Given the description of an element on the screen output the (x, y) to click on. 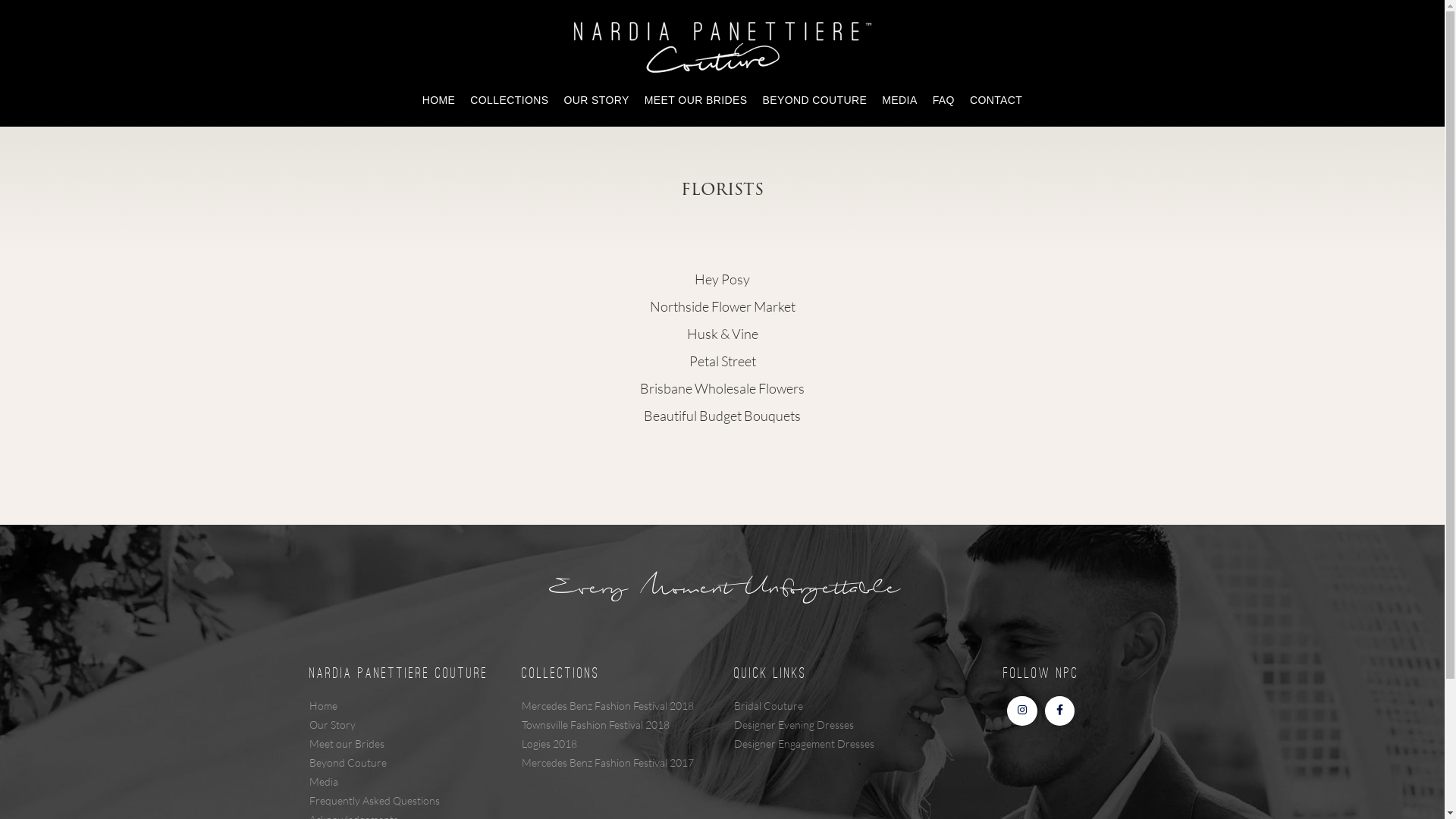
Bridal Couture Element type: text (804, 705)
Hey Posy Element type: text (721, 278)
Brisbane Wholesale Flowers Element type: text (722, 387)
OUR STORY Element type: text (595, 100)
Logies 2018 Element type: text (607, 743)
MEDIA Element type: text (899, 100)
COLLECTIONS Element type: text (509, 100)
Designer Evening Dresses Element type: text (804, 723)
Home Element type: text (374, 705)
Our Story Element type: text (374, 723)
Beyond Couture Element type: text (374, 761)
Mercedes Benz Fashion Festival 2017 Element type: text (607, 761)
MEET OUR BRIDES Element type: text (695, 100)
HOME Element type: text (438, 100)
Mercedes Benz Fashion Festival 2018 Element type: text (607, 705)
Townsville Fashion Festival 2018 Element type: text (607, 723)
CONTACT Element type: text (996, 100)
Frequently Asked Questions Element type: text (374, 799)
Meet our Brides Element type: text (374, 743)
Husk & Vine Element type: text (722, 333)
Petal Street Element type: text (721, 360)
Designer Engagement Dresses Element type: text (804, 743)
FAQ Element type: text (943, 100)
Media Element type: text (374, 780)
BEYOND COUTURE Element type: text (814, 100)
Northside Flower Market Element type: text (721, 306)
Beautiful Budget Bouquets Element type: text (721, 415)
